Given the description of an element on the screen output the (x, y) to click on. 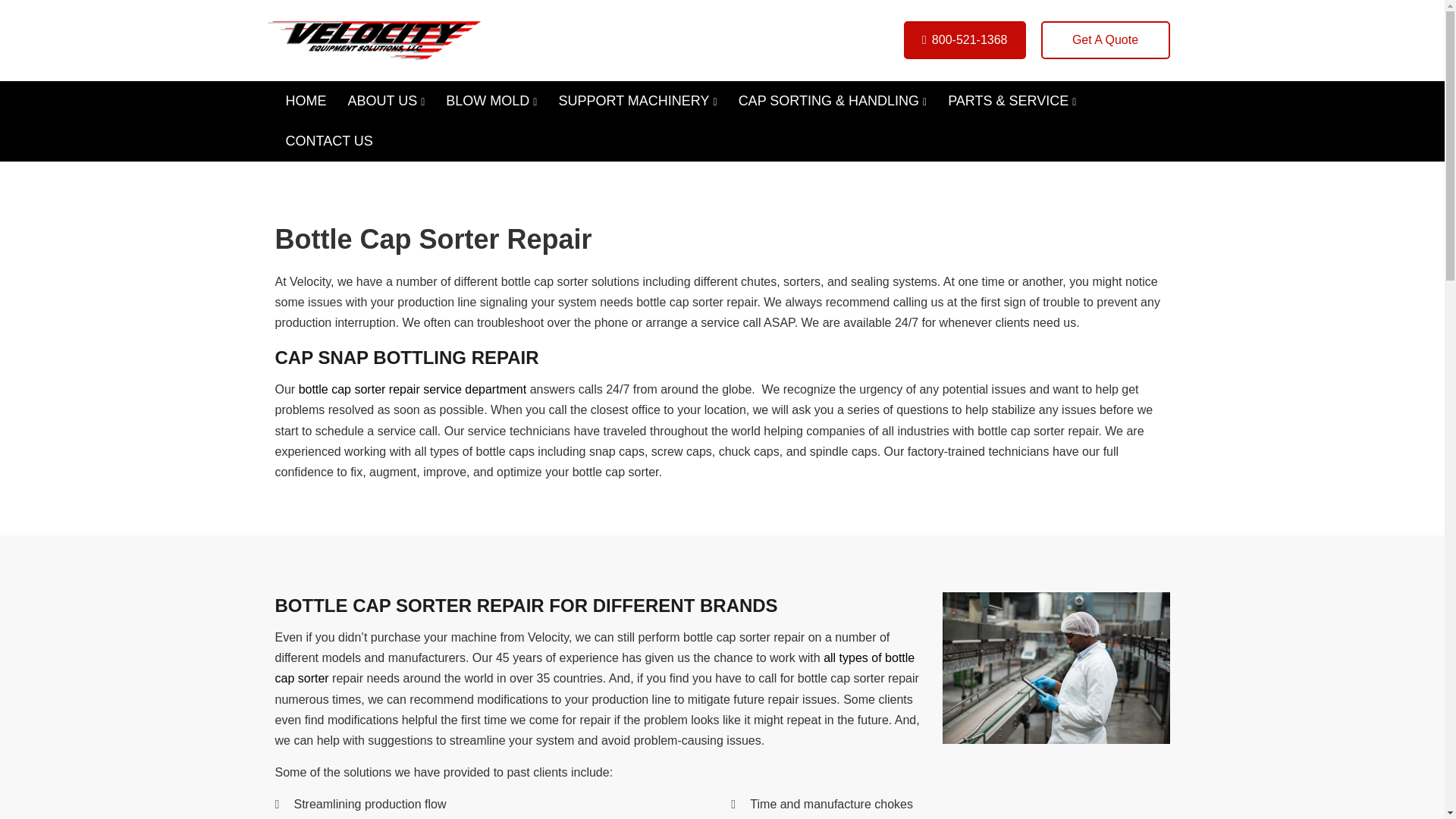
CONTACT US (328, 141)
HOME (305, 101)
bottle cap sorter repair service department (412, 389)
BLOW MOLD (491, 101)
SUPPORT MACHINERY (636, 101)
all types of bottle cap sorter (594, 667)
ABOUT US (385, 101)
Get A Quote (1105, 39)
800-521-1368 (964, 39)
